Given the description of an element on the screen output the (x, y) to click on. 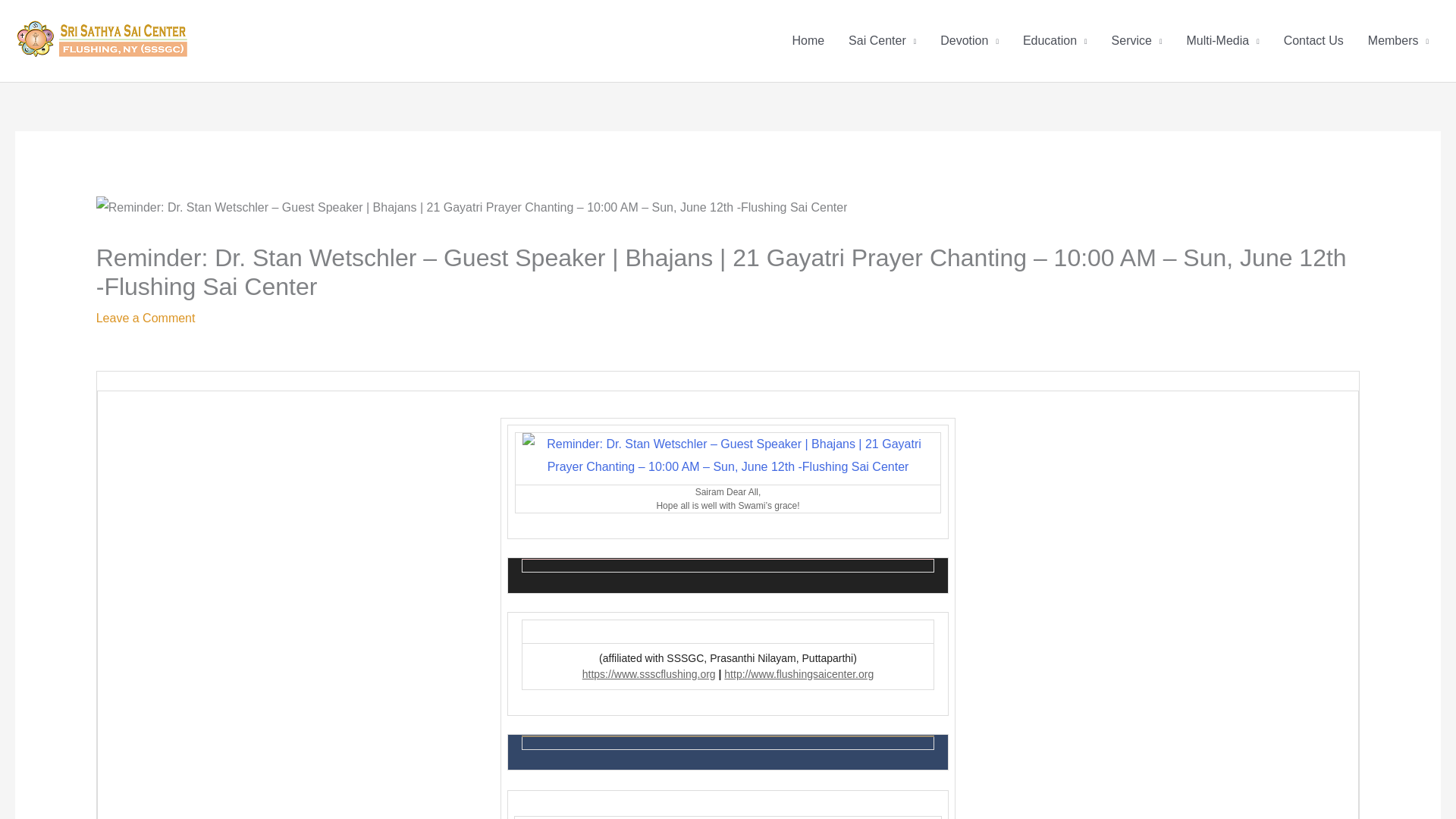
Home (806, 40)
Multi-Media (1222, 40)
Sai Center (881, 40)
Contact Us (1313, 40)
Devotion (969, 40)
Service (1136, 40)
Education (1054, 40)
Members (1398, 40)
